Given the description of an element on the screen output the (x, y) to click on. 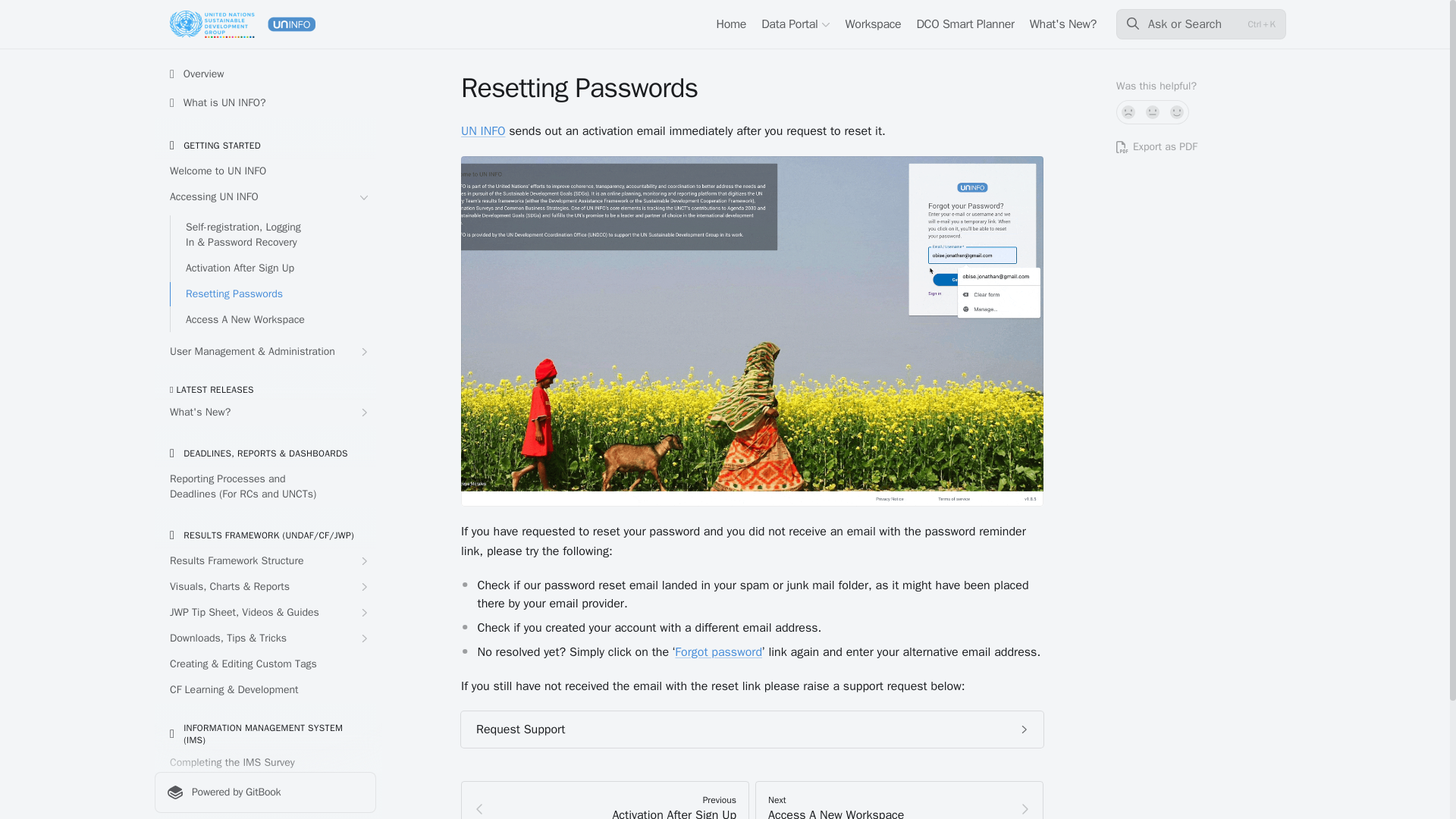
Accessing UN INFO (264, 197)
Activation After Sign Up (272, 268)
Resetting Passwords (272, 293)
What's New? (264, 412)
Access A New Workspace (272, 319)
Yes, it was! (1176, 111)
No (1128, 111)
Not sure (1152, 111)
Results Framework Structure (264, 560)
Data Portal (795, 24)
